Given the description of an element on the screen output the (x, y) to click on. 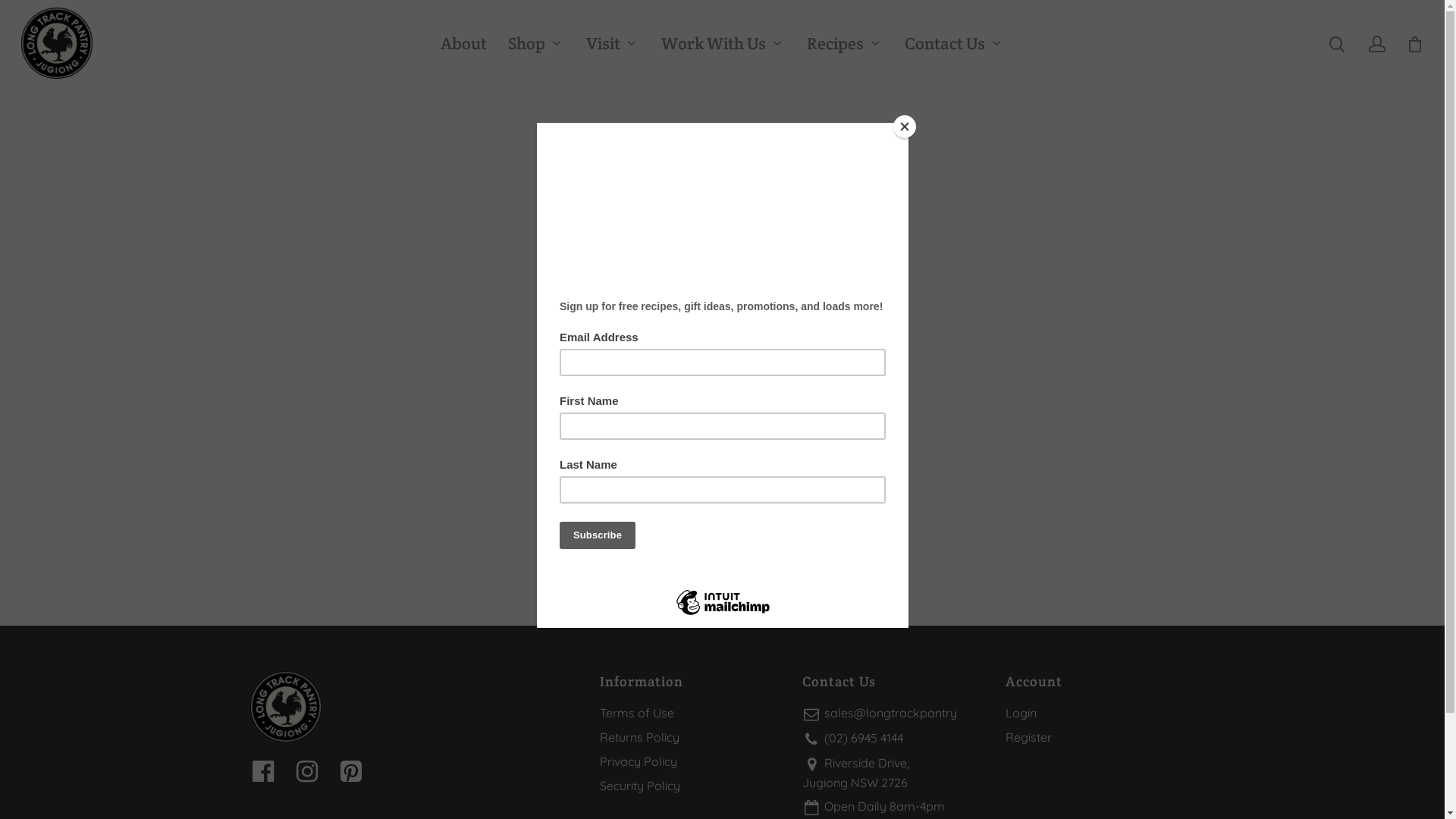
Returns Policy Element type: text (691, 737)
Back Home Element type: text (729, 504)
Riverside Drive,
Jugiong NSW 2726 Element type: text (894, 772)
(02) 6945 4144 Element type: text (894, 738)
Recipes Element type: text (844, 43)
Terms of Use Element type: text (691, 712)
Login Element type: text (1097, 712)
Shop Element type: text (536, 43)
Privacy Policy Element type: text (691, 761)
Security Policy Element type: text (691, 785)
Visit Element type: text (612, 43)
Register Element type: text (1097, 737)
sales@longtrackpantry Element type: text (894, 713)
Work With Us Element type: text (723, 43)
About Element type: text (462, 43)
Contact Us Element type: text (953, 43)
